Given the description of an element on the screen output the (x, y) to click on. 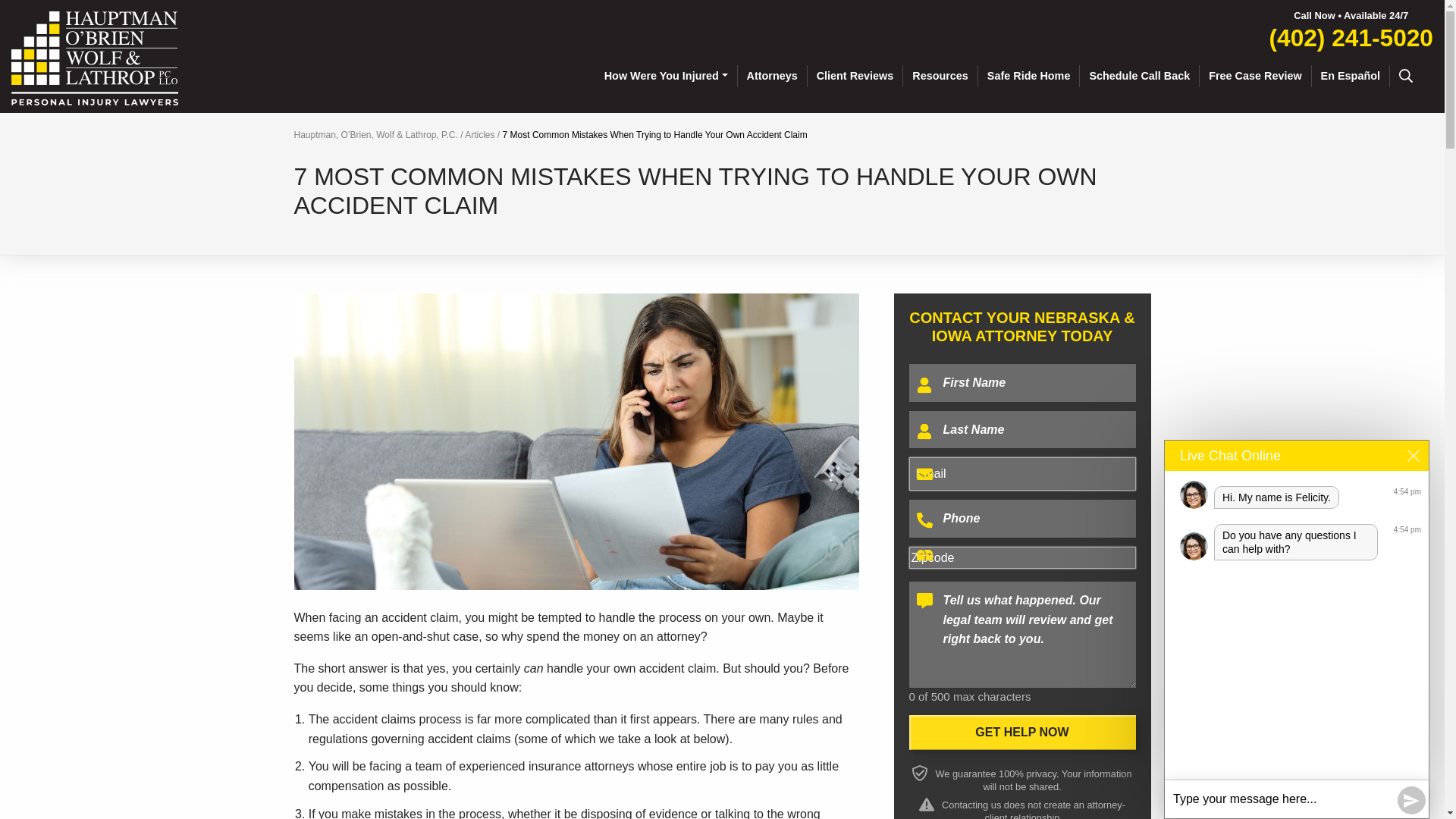
Safe Ride Home (1029, 75)
Client Reviews (856, 75)
How Were You Injured (666, 75)
Free Case Review (1255, 75)
Schedule Call Back (1139, 75)
Attorneys (773, 75)
Get Help Now (1021, 732)
Resources (940, 75)
